Given the description of an element on the screen output the (x, y) to click on. 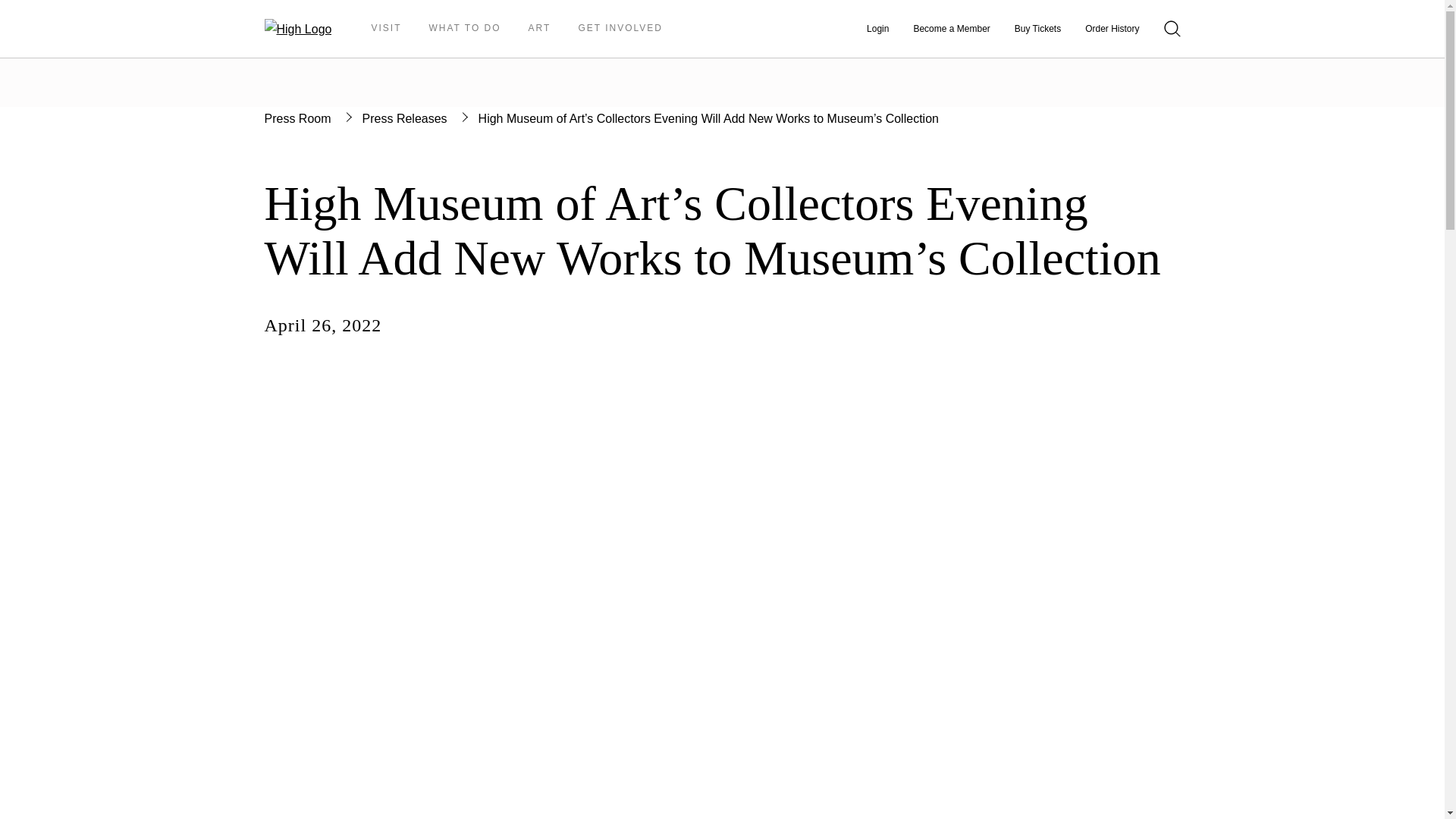
High Logo (297, 28)
WHAT TO DO (464, 28)
